Given the description of an element on the screen output the (x, y) to click on. 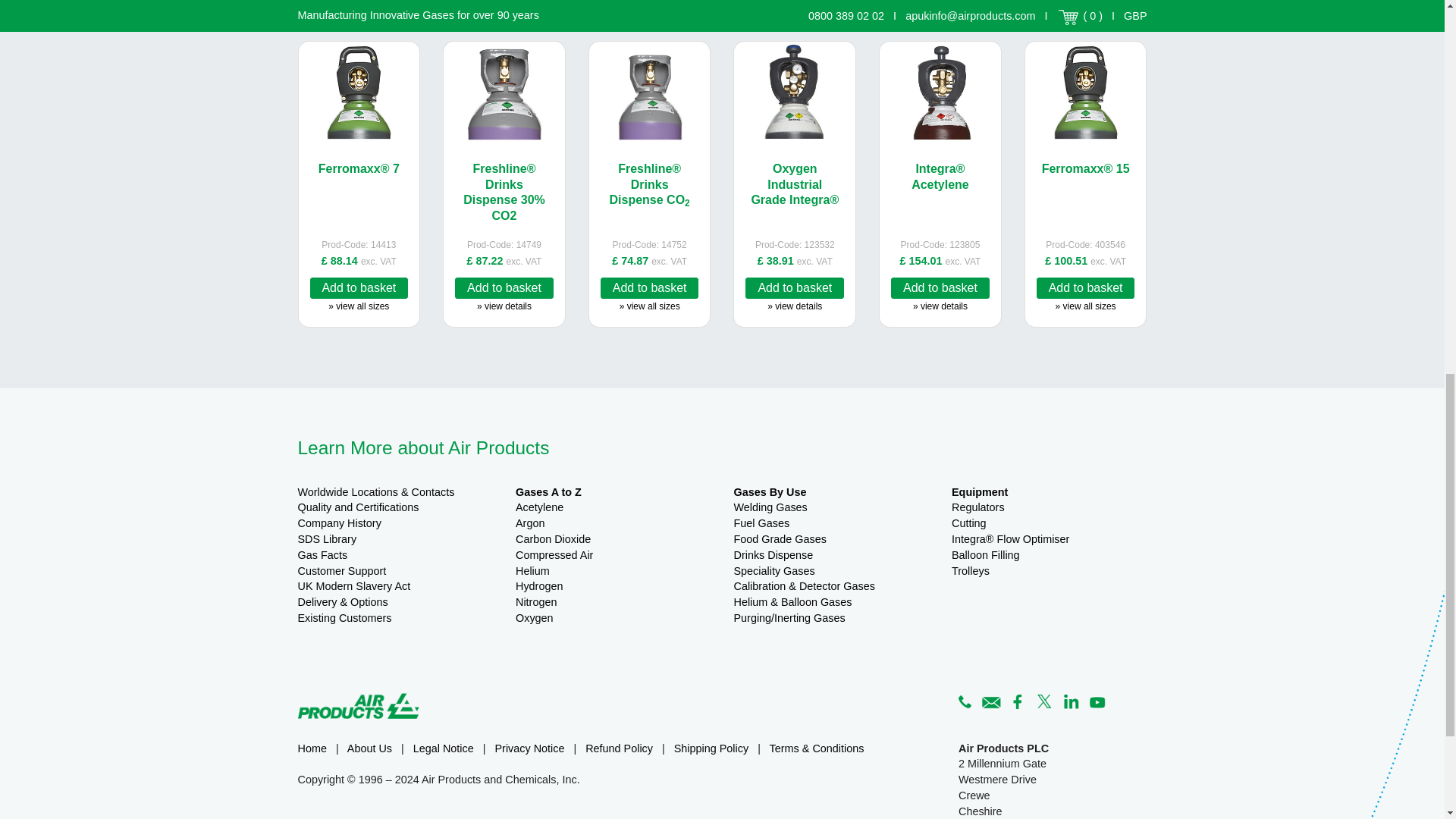
Call Us (965, 699)
Air Products (358, 705)
Contact Us (991, 699)
Air Products on facebook (1017, 699)
Watch Air Products Videos (1097, 699)
